Given the description of an element on the screen output the (x, y) to click on. 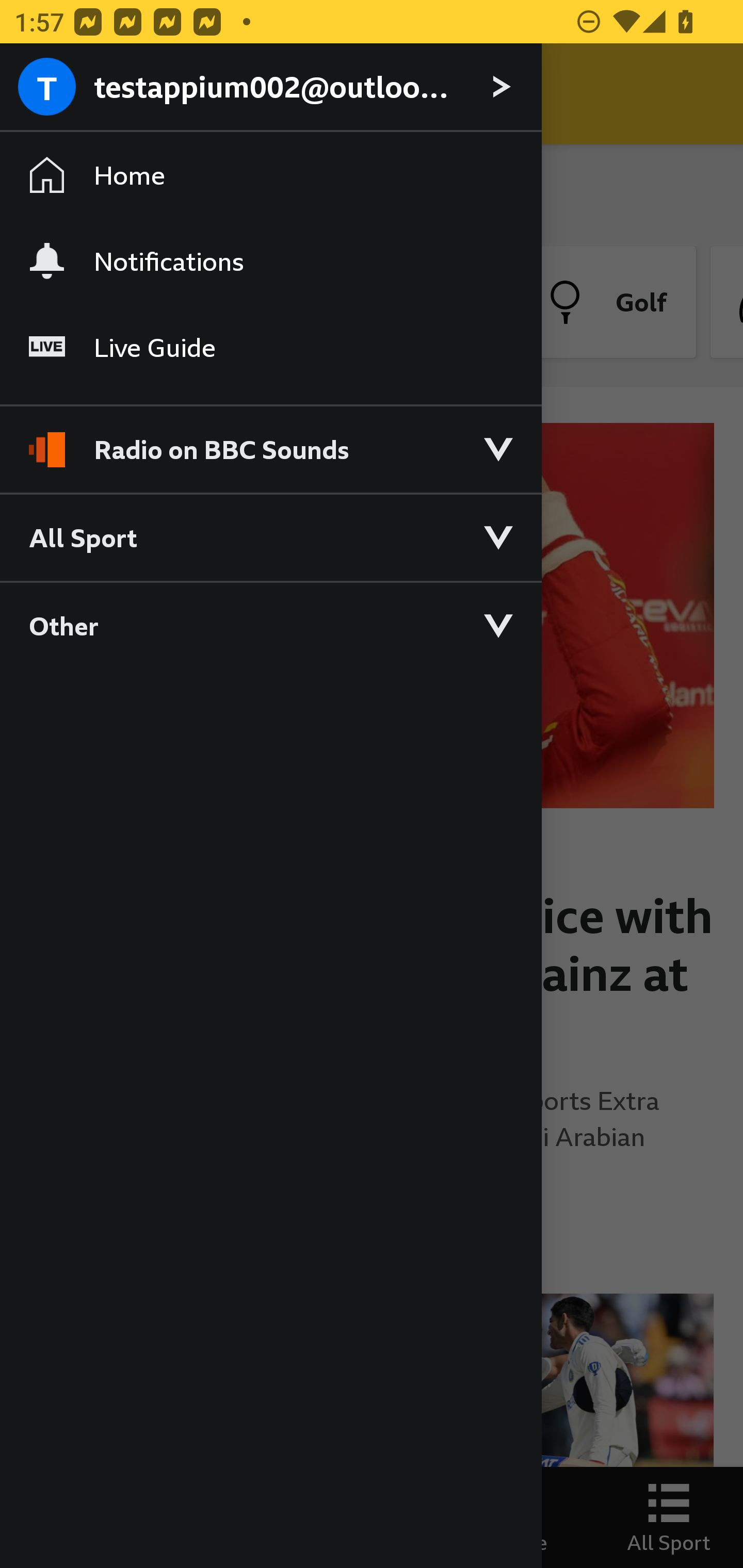
Close Menu (50, 93)
testappium002@outlook.com (270, 87)
Home (270, 174)
Notifications (270, 260)
Live Guide (270, 347)
Radio on BBC Sounds (270, 441)
All Sport (270, 536)
Other (270, 624)
